Given the description of an element on the screen output the (x, y) to click on. 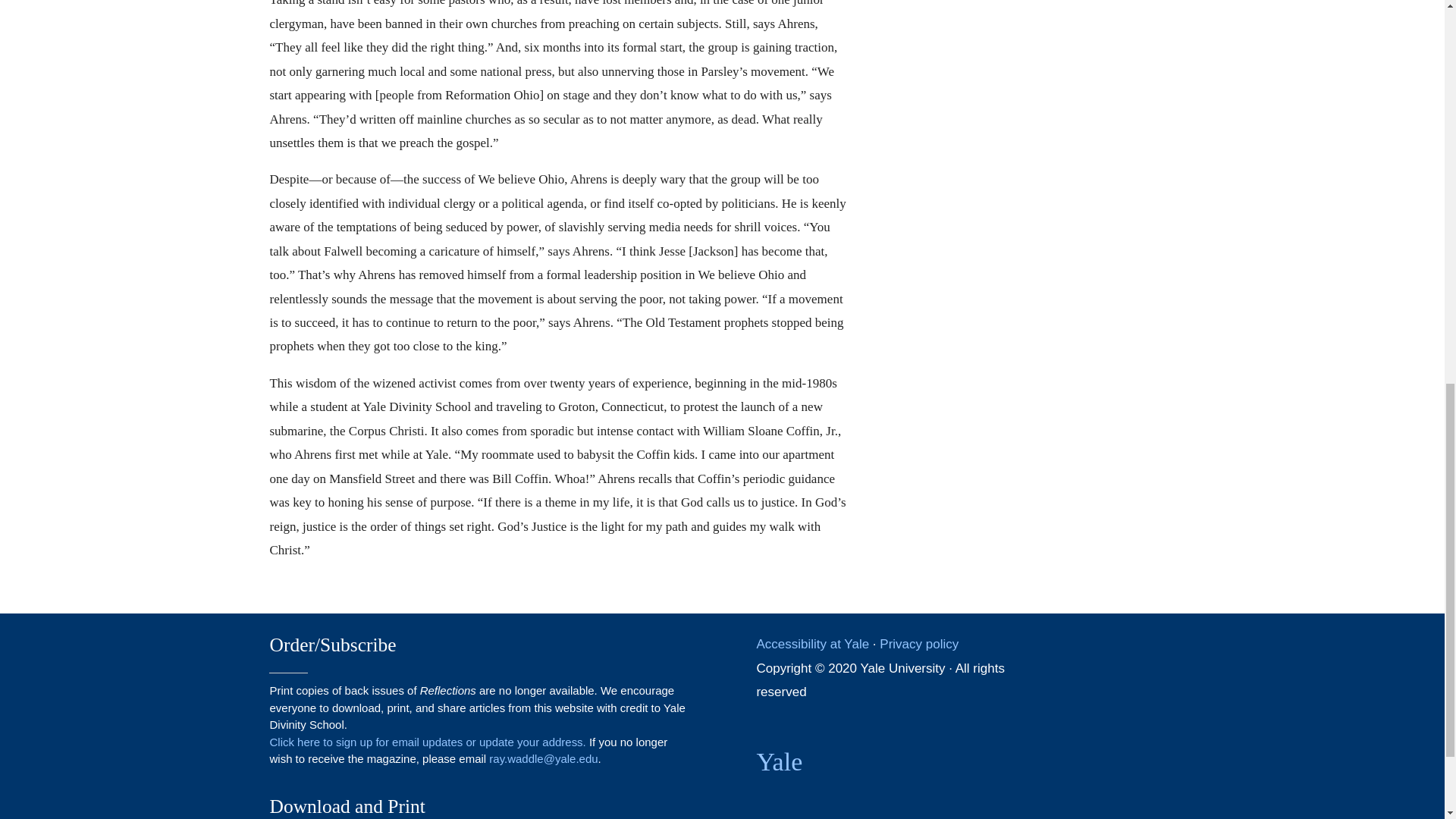
Yale (778, 761)
Accessibility at Yale (812, 644)
Privacy policy (918, 644)
